Given the description of an element on the screen output the (x, y) to click on. 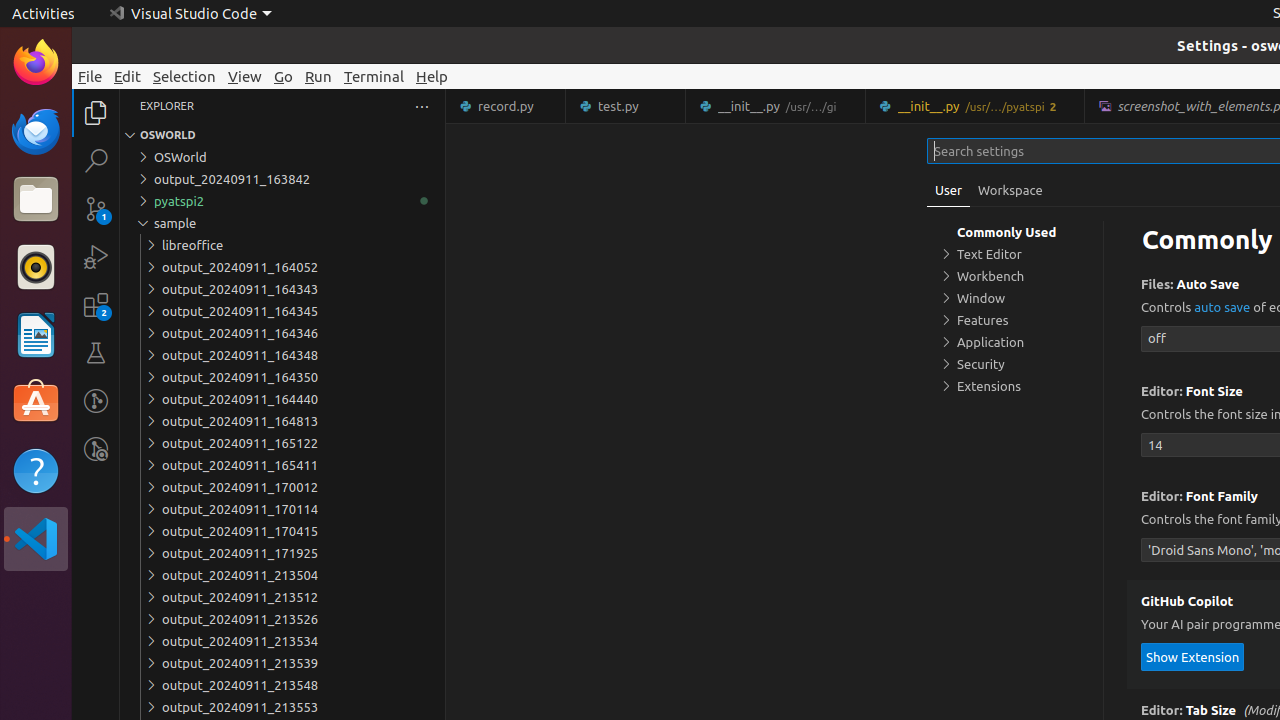
output_20240911_170012 Element type: tree-item (282, 487)
Text Editor, group Element type: tree-item (1015, 254)
output_20240911_164348 Element type: tree-item (282, 355)
Search (Ctrl+Shift+F) Element type: page-tab (96, 160)
auto save Element type: link (1222, 307)
